Given the description of an element on the screen output the (x, y) to click on. 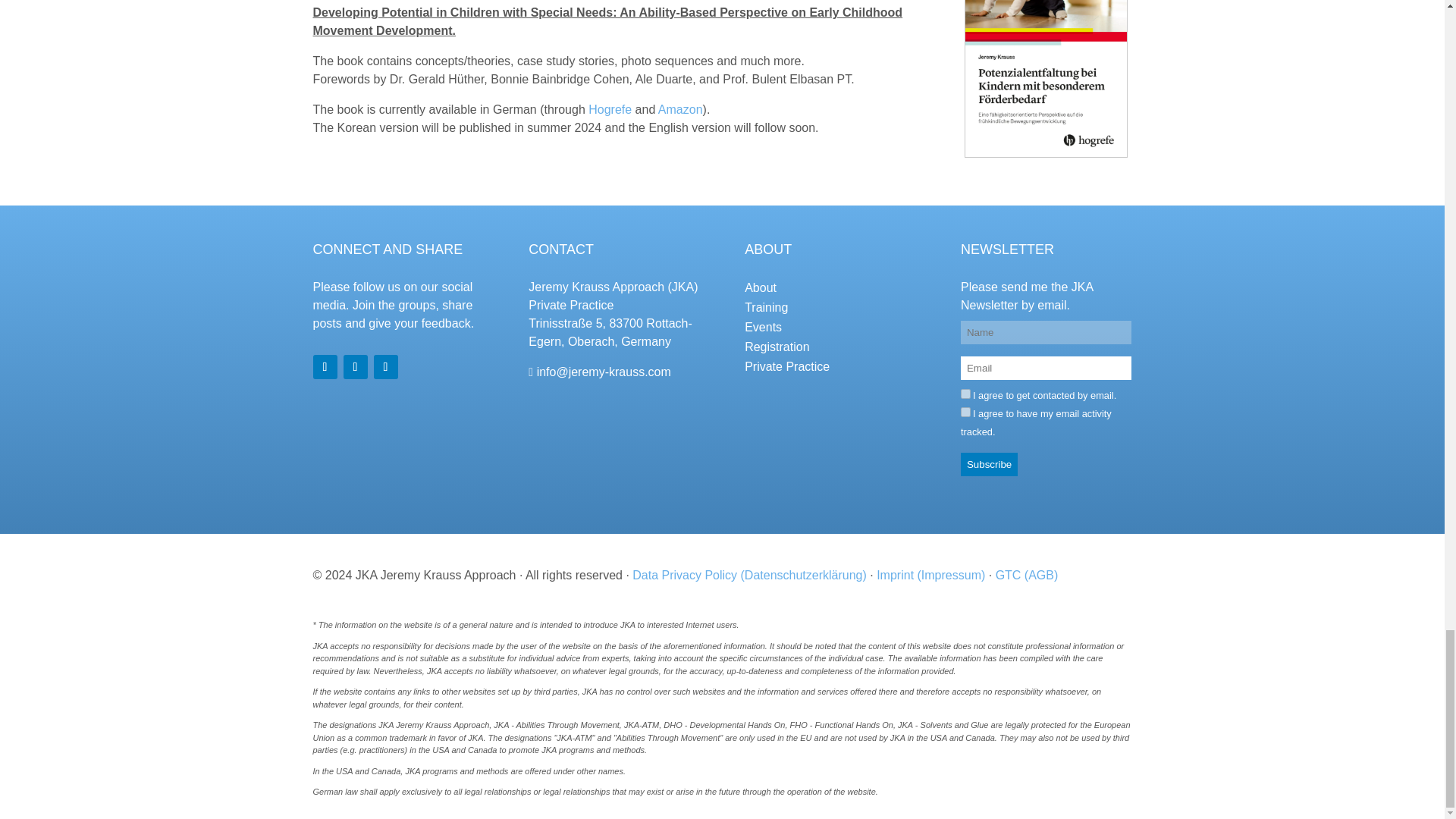
Follow on Youtube (324, 366)
Follow on Instagram (384, 366)
Jeremy Krauss Approach Center  (604, 371)
Follow on Facebook (354, 366)
on (965, 393)
Training (765, 307)
on (965, 411)
Registration (776, 346)
About (760, 287)
hogrefe-jeremy-krauss (1045, 78)
